Given the description of an element on the screen output the (x, y) to click on. 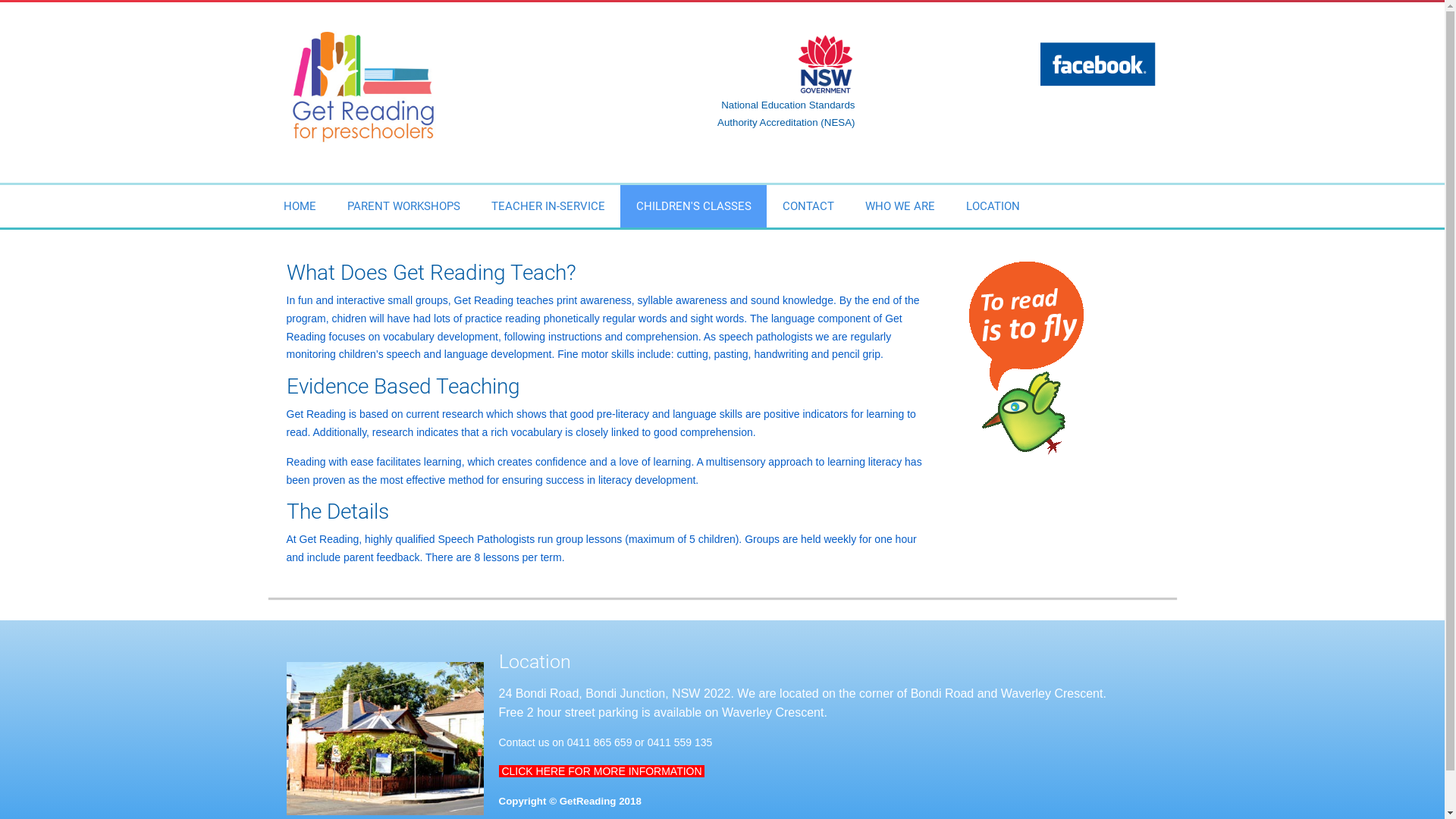
CLICK HERE FOR MORE INFORMATION Element type: text (601, 771)
LOCATION Element type: text (992, 206)
PARENT WORKSHOPS Element type: text (403, 206)
CONTACT Element type: text (808, 206)
WHO WE ARE Element type: text (899, 206)
HOME Element type: text (299, 206)
CHILDREN'S CLASSES Element type: text (692, 206)
Gert Reading Element type: hover (363, 84)
TEACHER IN-SERVICE Element type: text (548, 206)
